Given the description of an element on the screen output the (x, y) to click on. 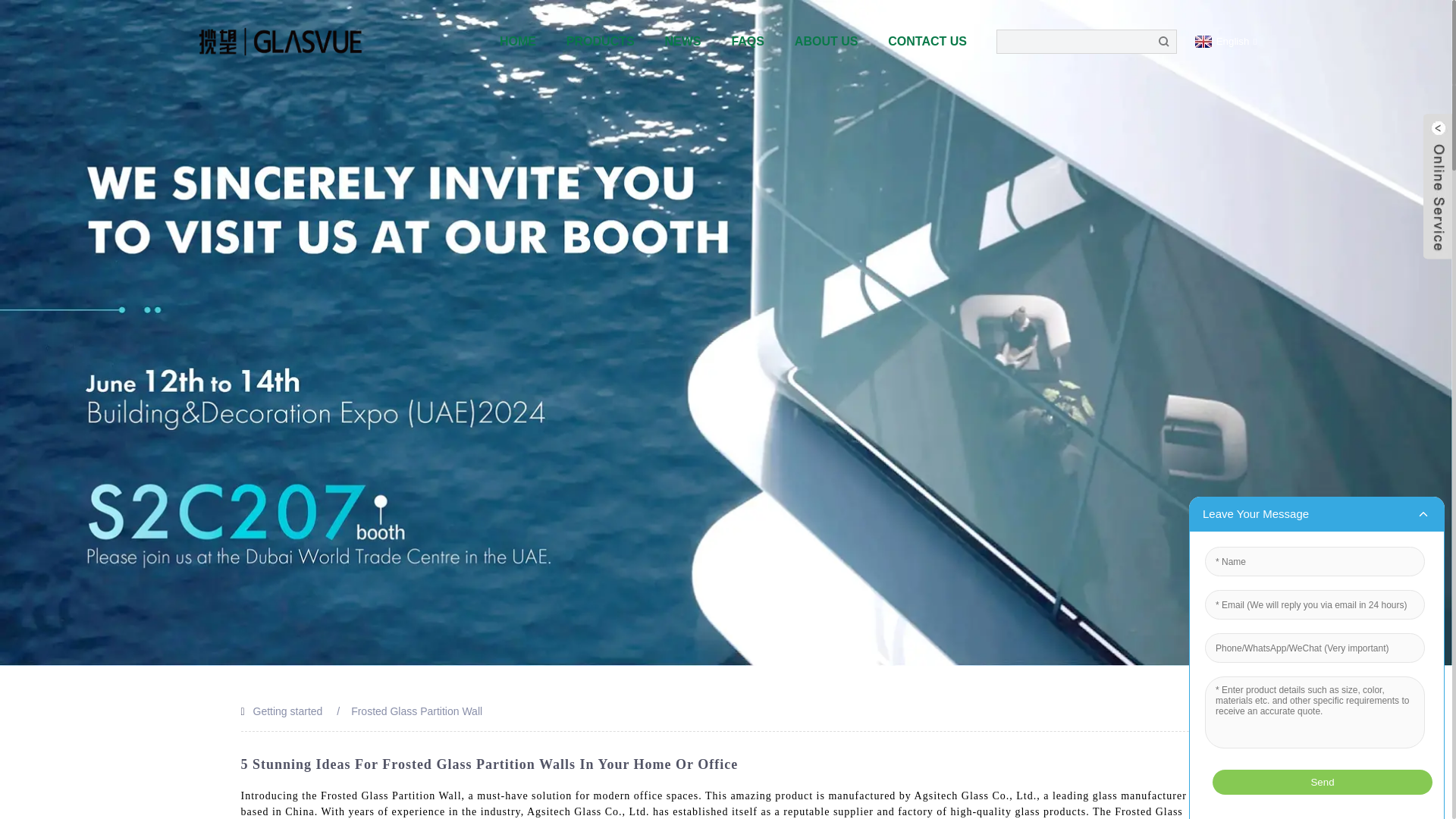
Getting started (288, 711)
ABOUT US (826, 41)
English (1224, 41)
NEWS (682, 41)
Frosted Glass Partition Wall (415, 711)
CONTACT US (920, 41)
FAQS (747, 41)
HOME (518, 41)
PRODUCTS (600, 41)
